Given the description of an element on the screen output the (x, y) to click on. 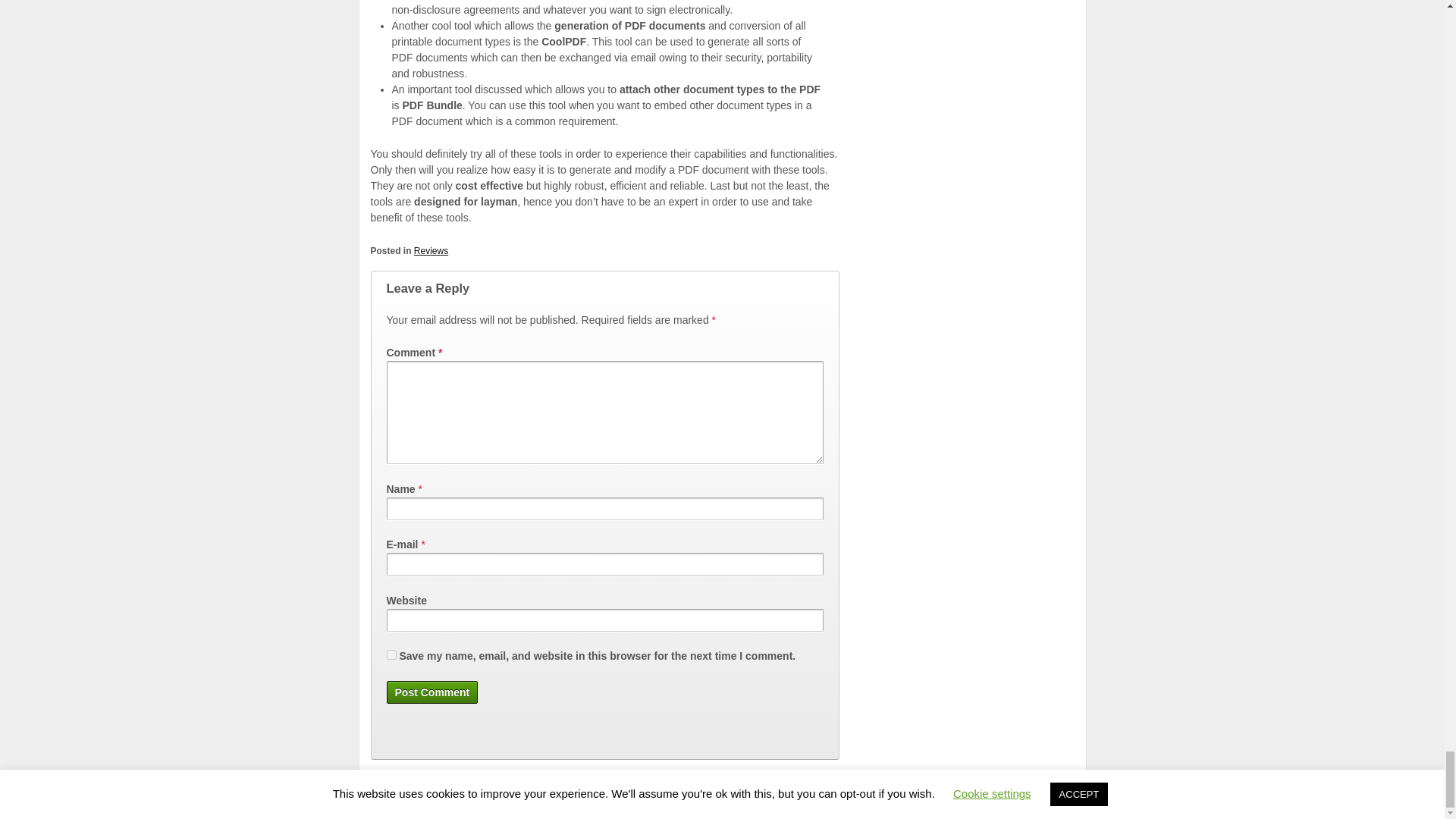
Post Comment (433, 691)
Responsive Theme (961, 796)
Post Comment (433, 691)
Responsive Theme (961, 796)
Reviews (430, 250)
scroll to top (722, 796)
PDF2TXT (405, 796)
PDF2TXT (405, 796)
WordPress (1065, 796)
WordPress (1065, 796)
